Given the description of an element on the screen output the (x, y) to click on. 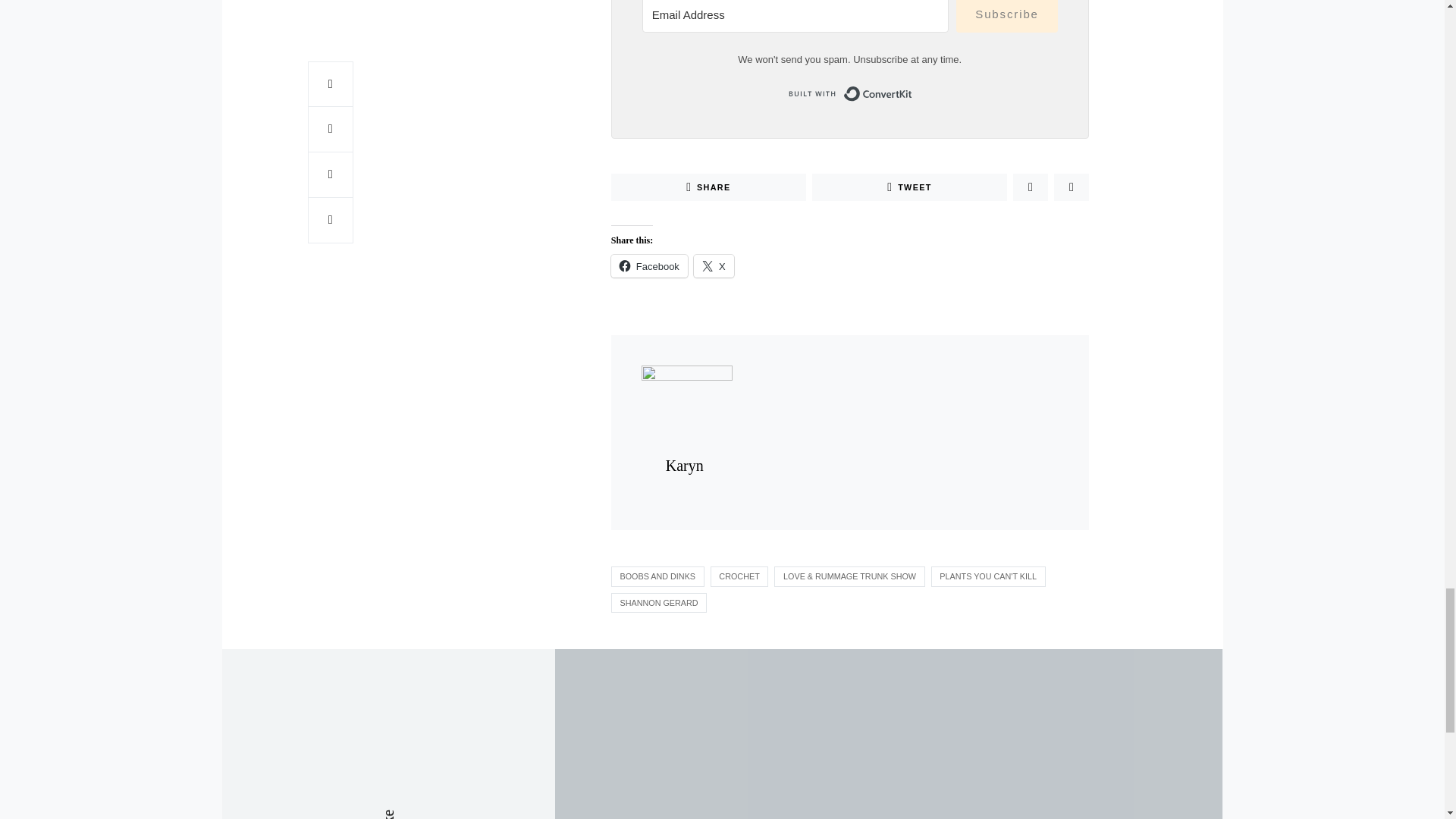
Click to share on X (713, 265)
Click to share on Facebook (649, 265)
